Given the description of an element on the screen output the (x, y) to click on. 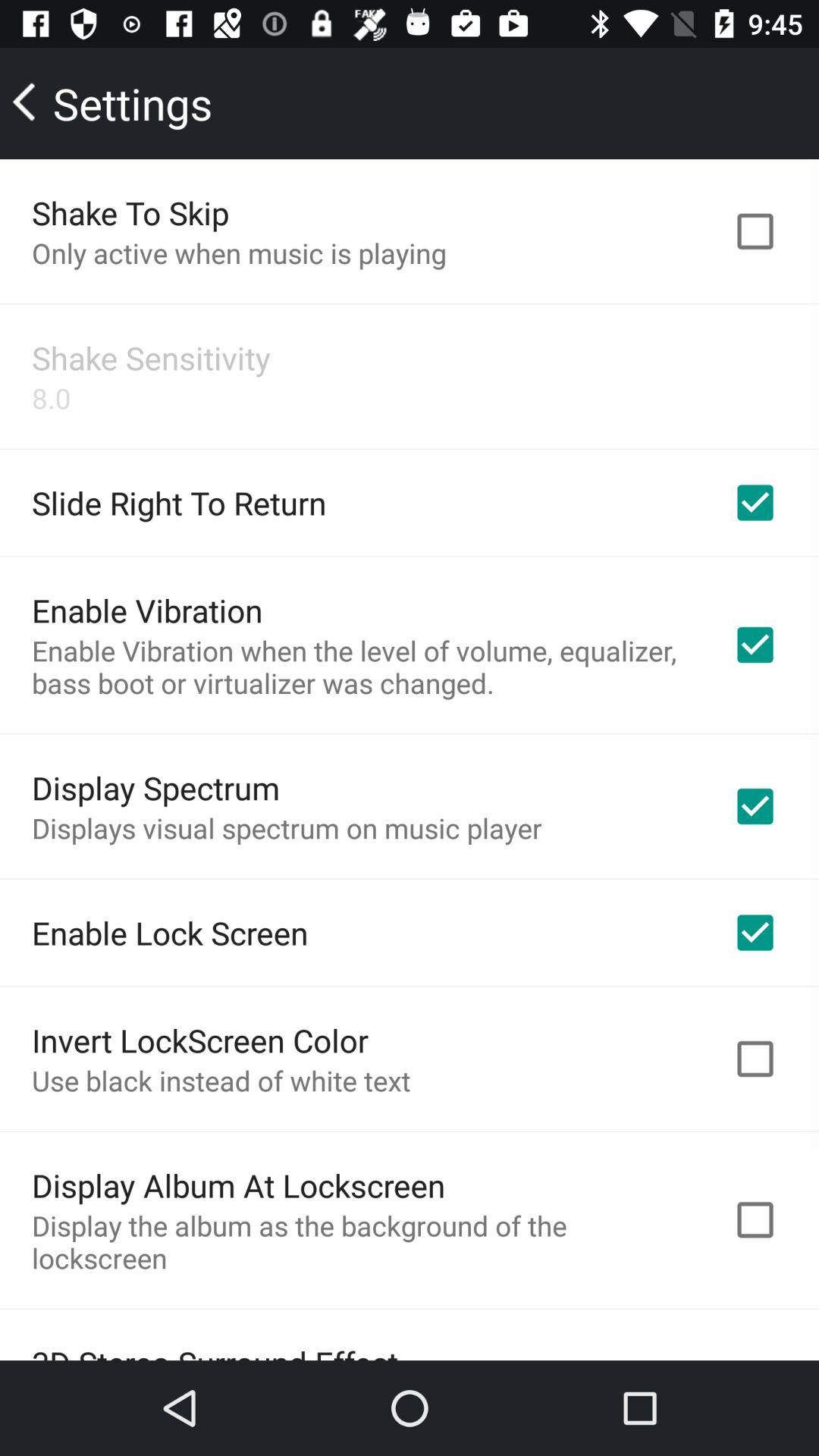
click the second check box from top (755, 502)
